Given the description of an element on the screen output the (x, y) to click on. 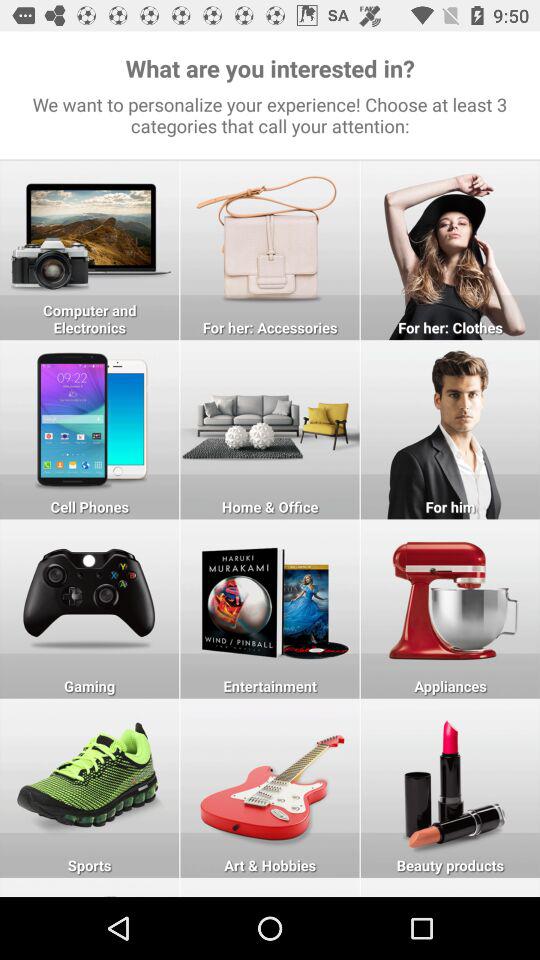
open entertainment section (269, 608)
